Given the description of an element on the screen output the (x, y) to click on. 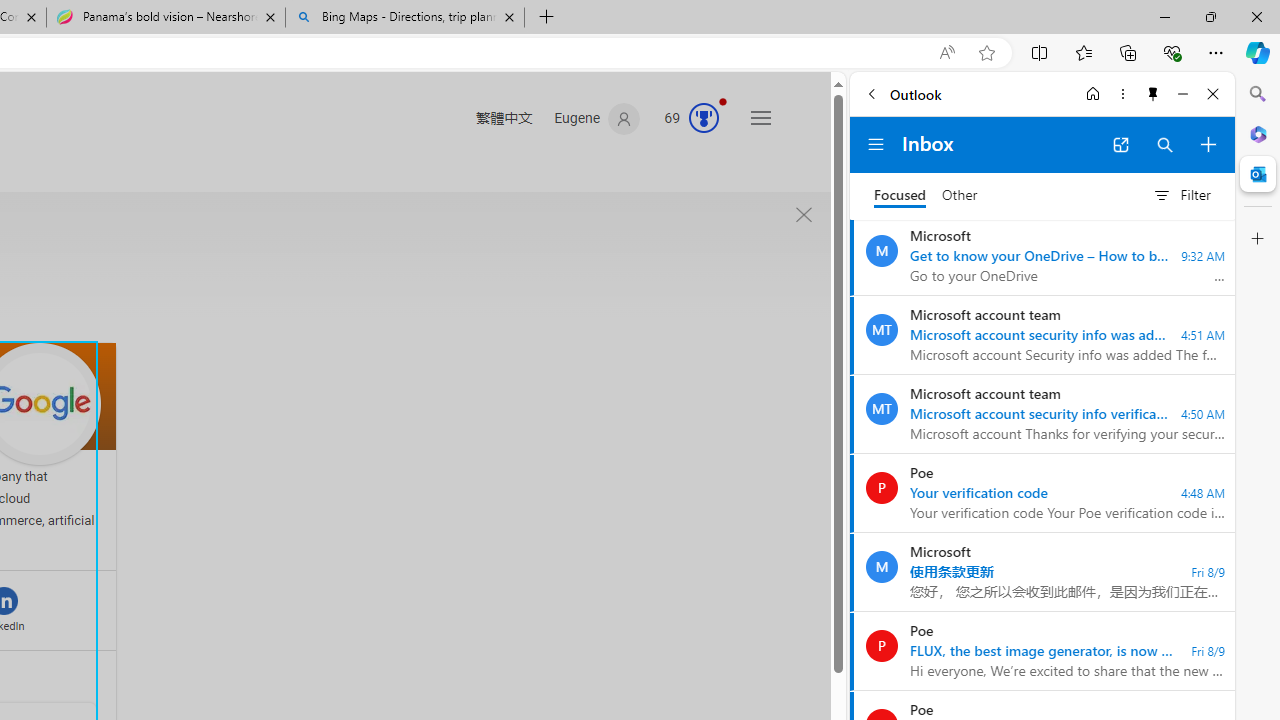
Focused Inbox, toggle to go to Other Inbox (925, 195)
Folder navigation (876, 144)
